Given the description of an element on the screen output the (x, y) to click on. 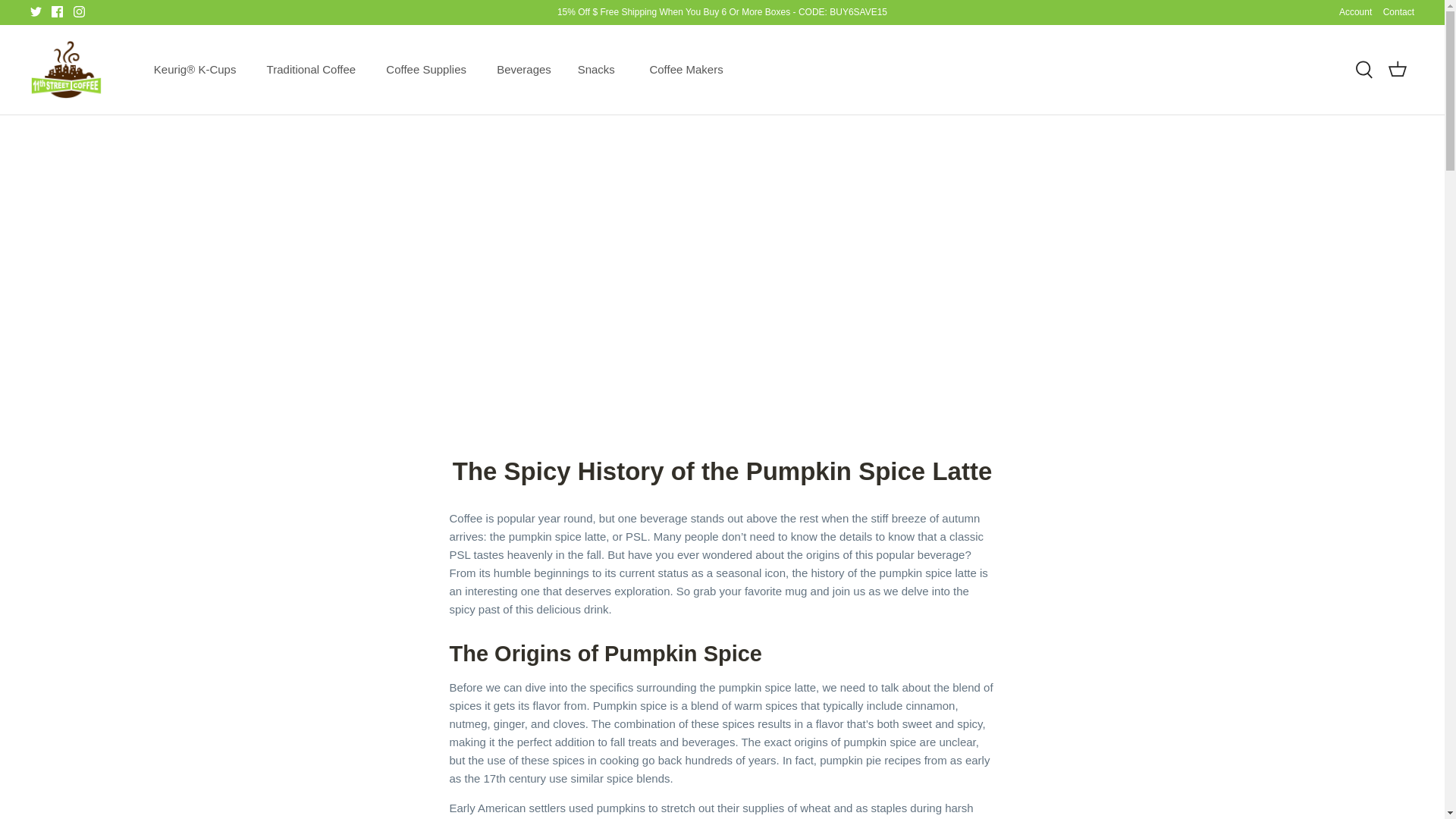
Facebook (56, 11)
Contact (1398, 12)
Instagram (79, 11)
Twitter (36, 11)
Facebook (56, 11)
Account (1355, 12)
Instagram (79, 11)
11th Street Coffee (65, 69)
Twitter (36, 11)
